Given the description of an element on the screen output the (x, y) to click on. 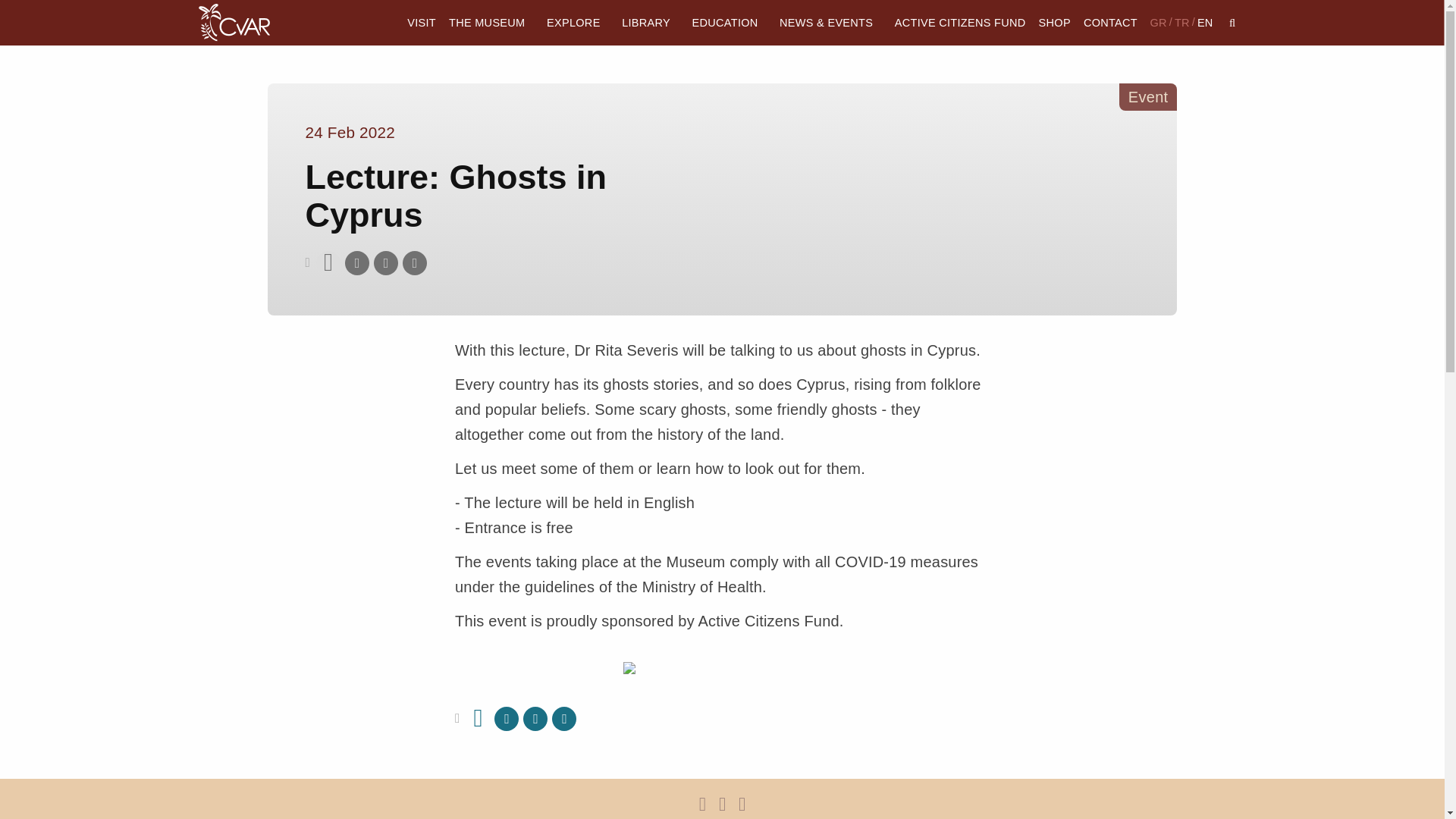
LIBRARY (650, 22)
VISIT (421, 22)
EDUCATION (729, 22)
EXPLORE (577, 22)
THE MUSEUM (490, 22)
